Given the description of an element on the screen output the (x, y) to click on. 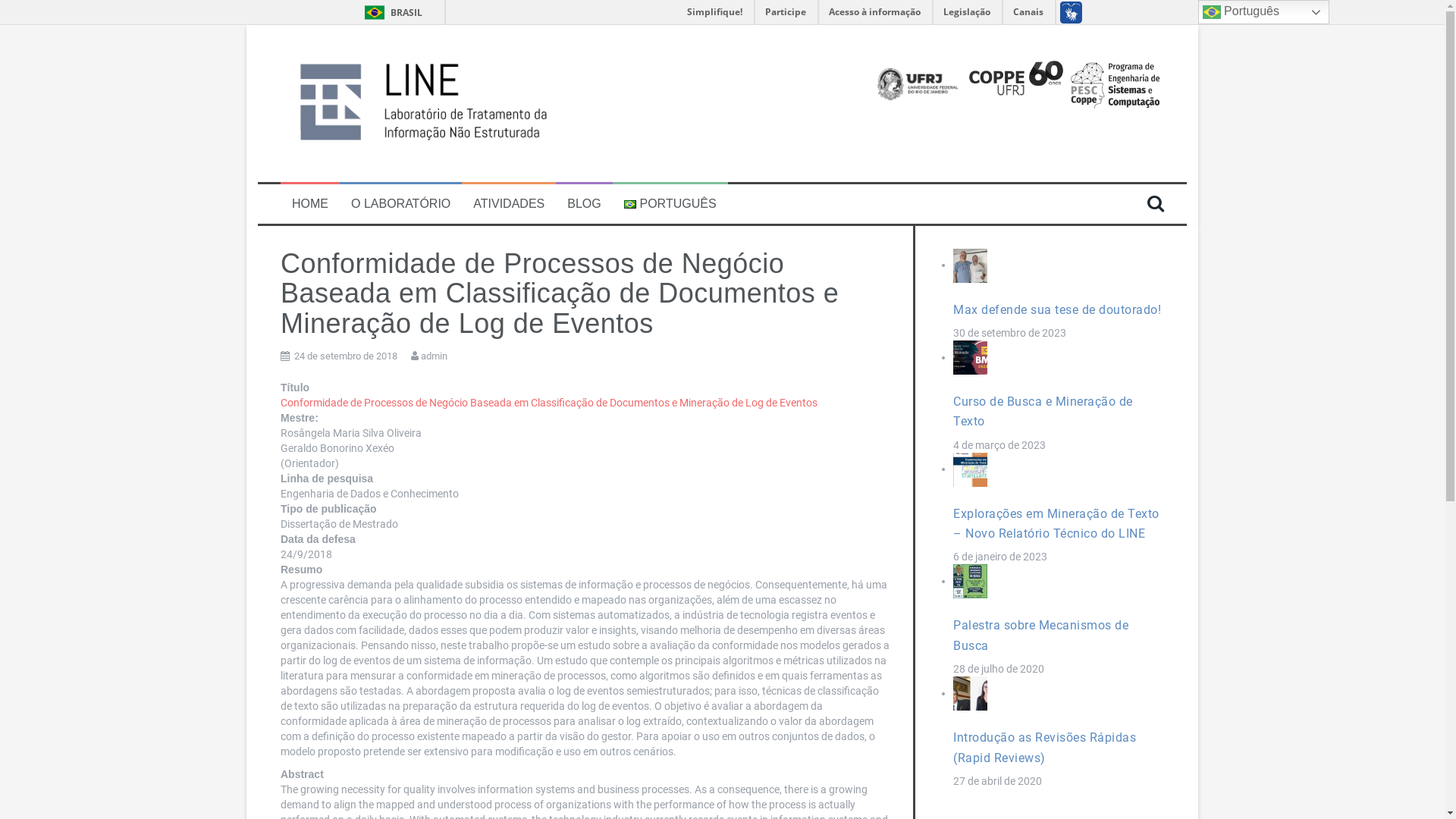
ATIVIDADES Element type: text (508, 204)
Max defende sua tese de doutorado! Element type: text (1057, 308)
BRASIL Element type: text (391, 12)
Palestra sobre Mecanismos de Busca Element type: text (1040, 635)
24 de setembro de 2018 Element type: text (345, 355)
BLOG Element type: text (583, 204)
admin Element type: text (433, 355)
HOME Element type: text (309, 204)
Line Element type: hover (431, 102)
